Given the description of an element on the screen output the (x, y) to click on. 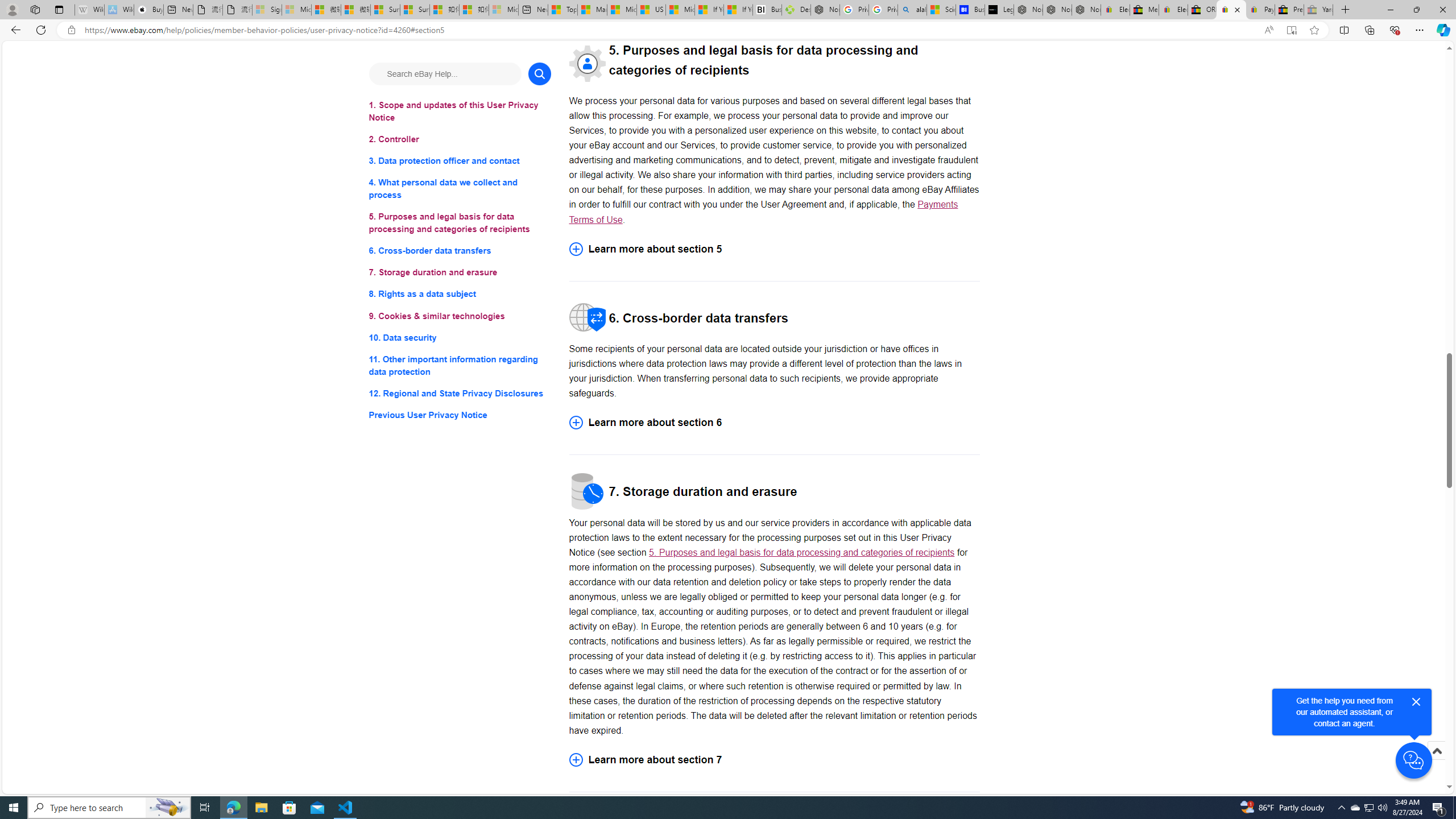
Previous User Privacy Notice (459, 414)
7. Storage duration and erasure (459, 272)
Learn more about section 6 (774, 422)
6. Cross-border data transfers (459, 250)
10. Data security (459, 336)
1. Scope and updates of this User Privacy Notice (459, 111)
